Given the description of an element on the screen output the (x, y) to click on. 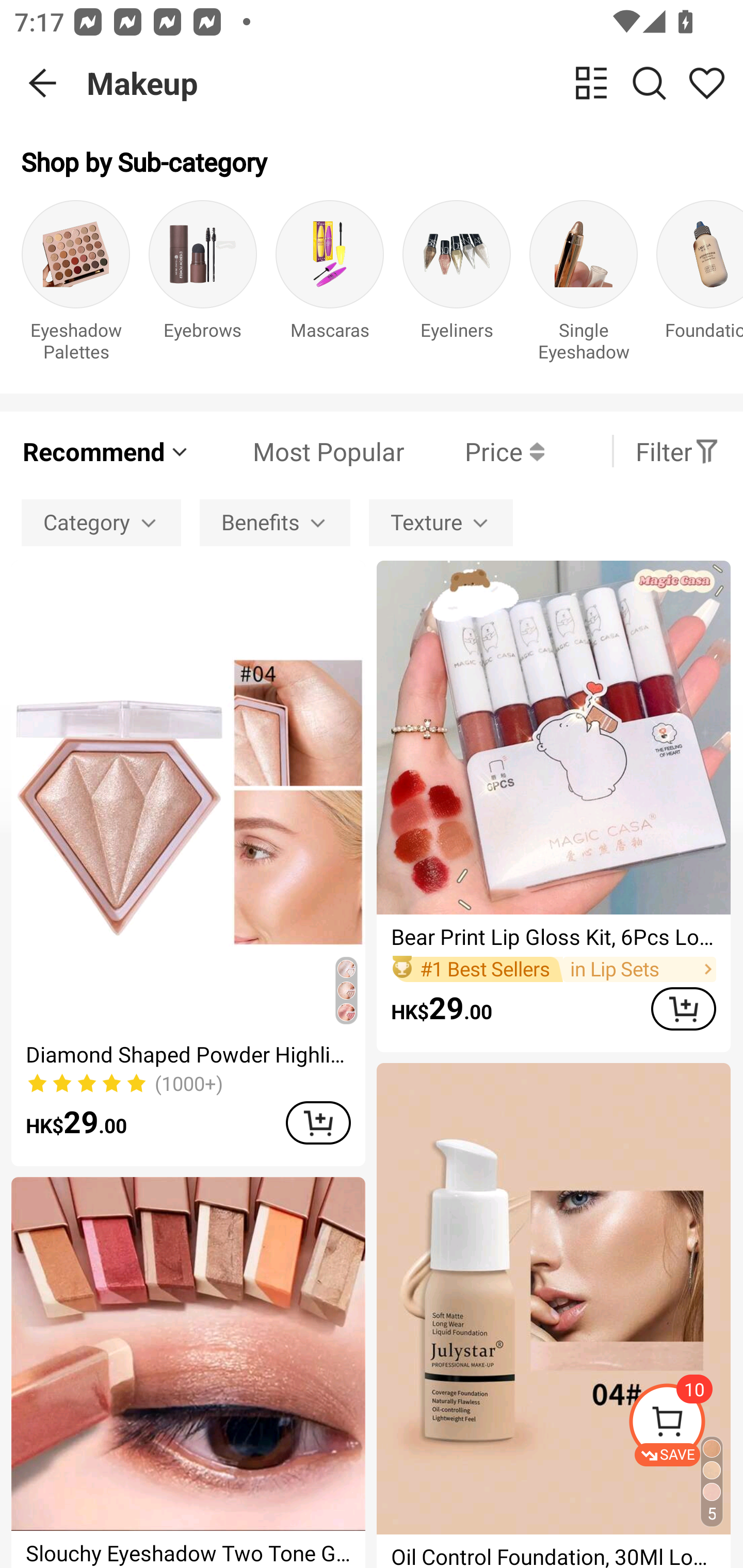
Makeup change view Search Share (414, 82)
change view (591, 82)
Search (648, 82)
Share (706, 82)
Eyeshadow Palettes (75, 285)
Eyebrows (202, 285)
Mascaras (329, 285)
Eyeliners (456, 285)
Single Eyeshadow (583, 285)
Foundation (699, 285)
Recommend (106, 450)
Most Popular (297, 450)
Price (474, 450)
Filter (677, 450)
Category (101, 521)
Benefits (274, 521)
Texture (440, 521)
#1 Best Sellers in Lip Sets (553, 968)
ADD TO CART (683, 1008)
ADD TO CART (318, 1122)
SAVE (685, 1424)
